Given the description of an element on the screen output the (x, y) to click on. 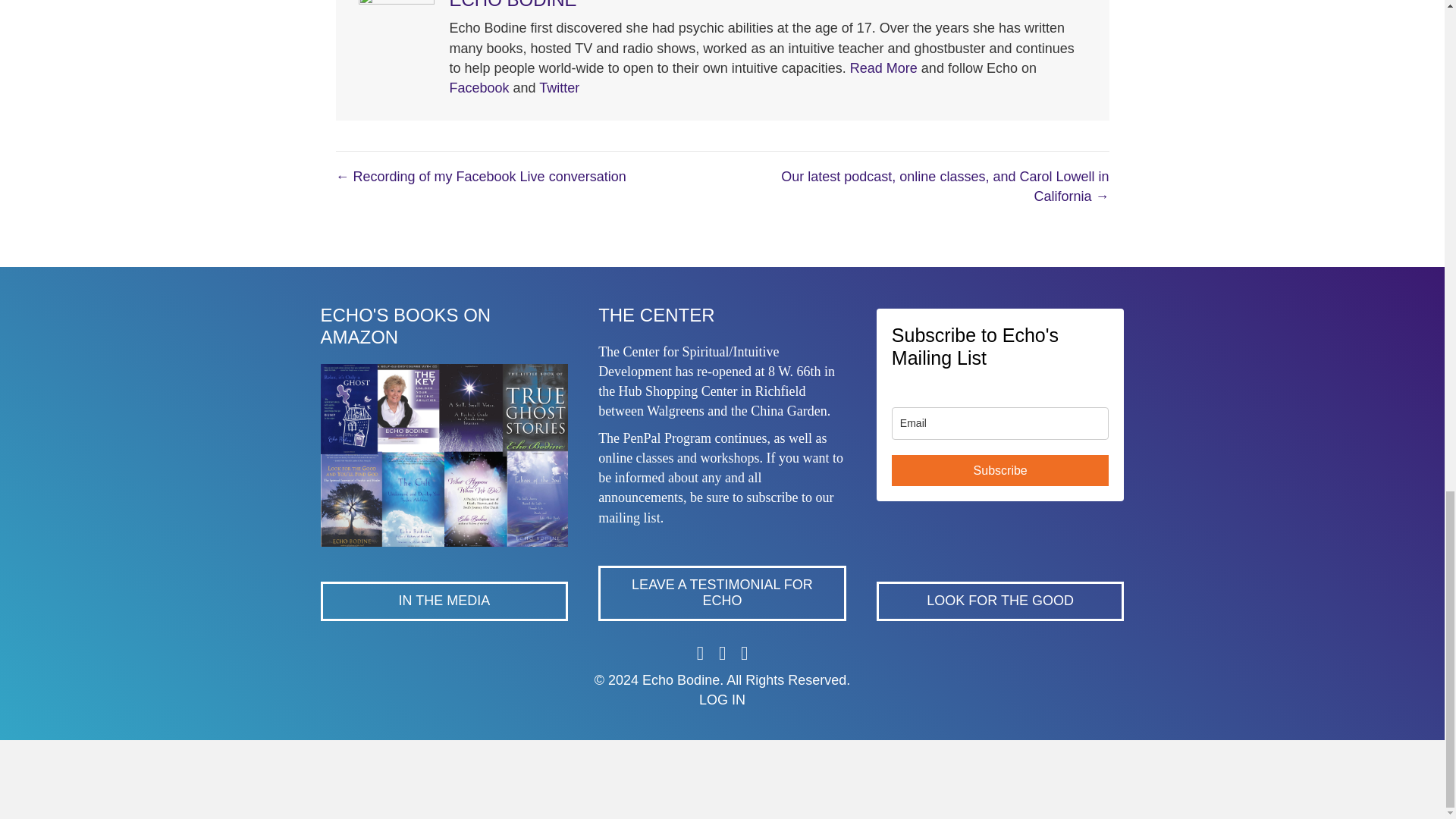
Subscribe (1000, 470)
LOOK FOR THE GOOD (1000, 600)
Read More (883, 68)
6-3-2014-3-31-02-PM (443, 455)
LEAVE A TESTIMONIAL FOR ECHO (721, 592)
LOG IN (721, 699)
IN THE MEDIA (443, 600)
Facebook (478, 87)
Twitter (558, 87)
